Given the description of an element on the screen output the (x, y) to click on. 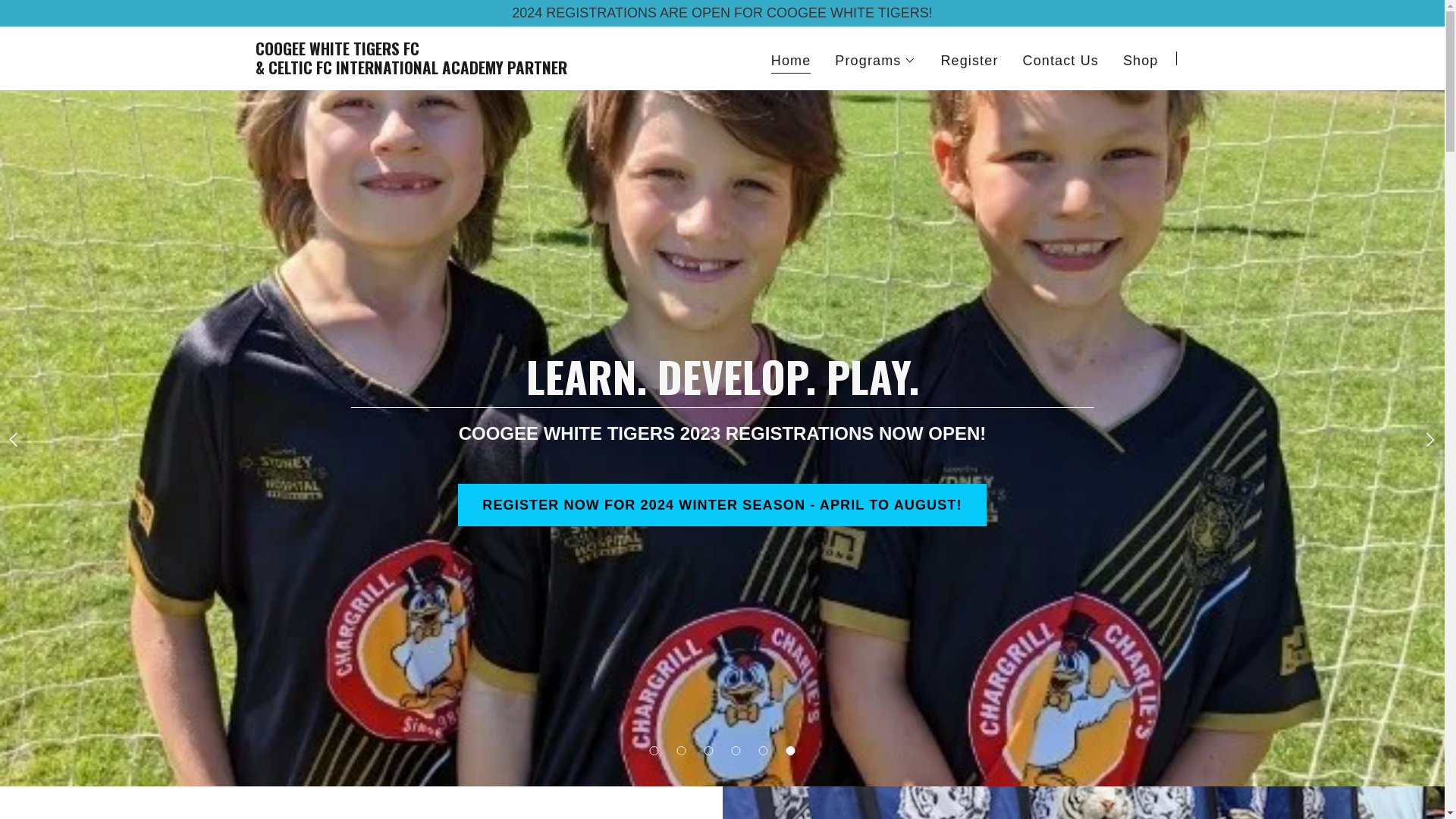
Register Element type: text (968, 60)
2024 REGISTRATIONS ARE OPEN FOR COOGEE WHITE TIGERS! Element type: text (722, 13)
Contact Us Element type: text (1060, 60)
REGISTER NOW FOR 2024 WINTER SEASON - APRIL TO AUGUST! Element type: text (721, 504)
Home Element type: text (791, 62)
Programs Element type: text (875, 60)
Shop Element type: text (1140, 60)
